Given the description of an element on the screen output the (x, y) to click on. 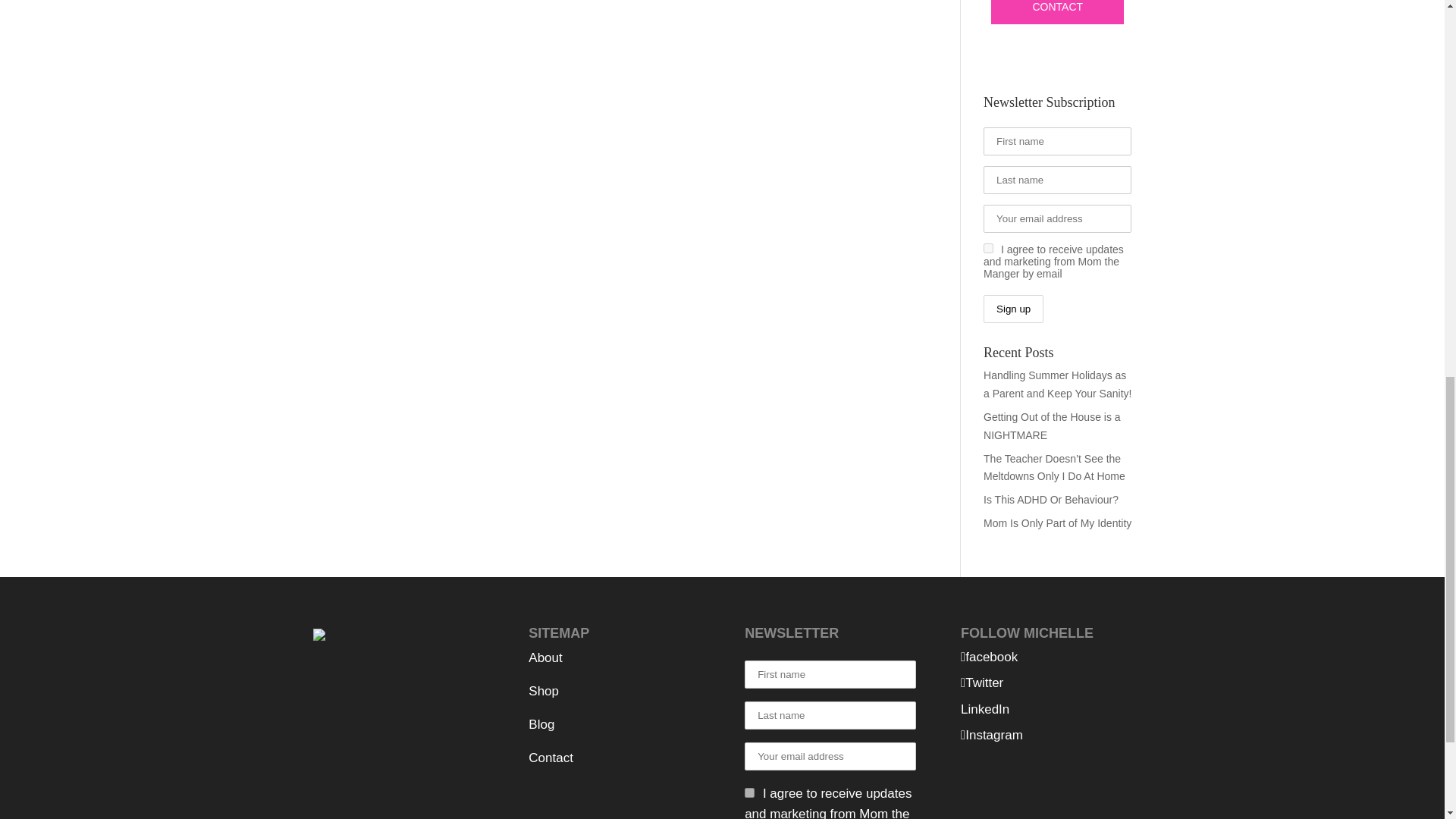
Shop (543, 690)
28b4cdc097 (749, 792)
Is This ADHD Or Behaviour? (1051, 499)
LinkedIn (984, 708)
Twitter (981, 682)
Getting Out of the House is a NIGHTMARE (1052, 426)
28b4cdc097 (988, 248)
Mom Is Only Part of My Identity (1057, 522)
Twitter (981, 682)
Instagram (991, 735)
Blog (541, 724)
LinkedIn (984, 708)
Instagram (991, 735)
Facebook (988, 657)
Sign up (1013, 308)
